Given the description of an element on the screen output the (x, y) to click on. 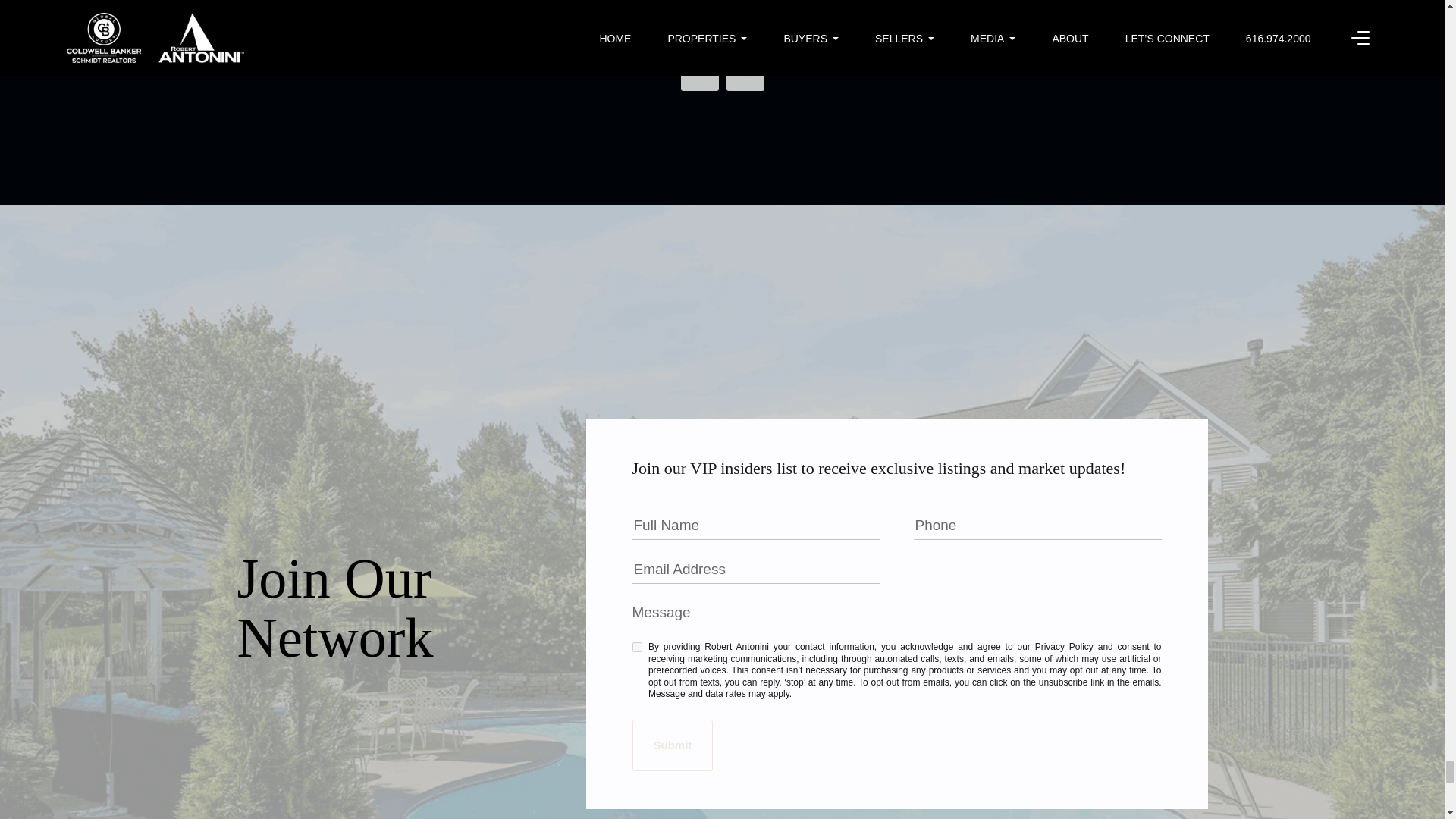
on (636, 646)
